Given the description of an element on the screen output the (x, y) to click on. 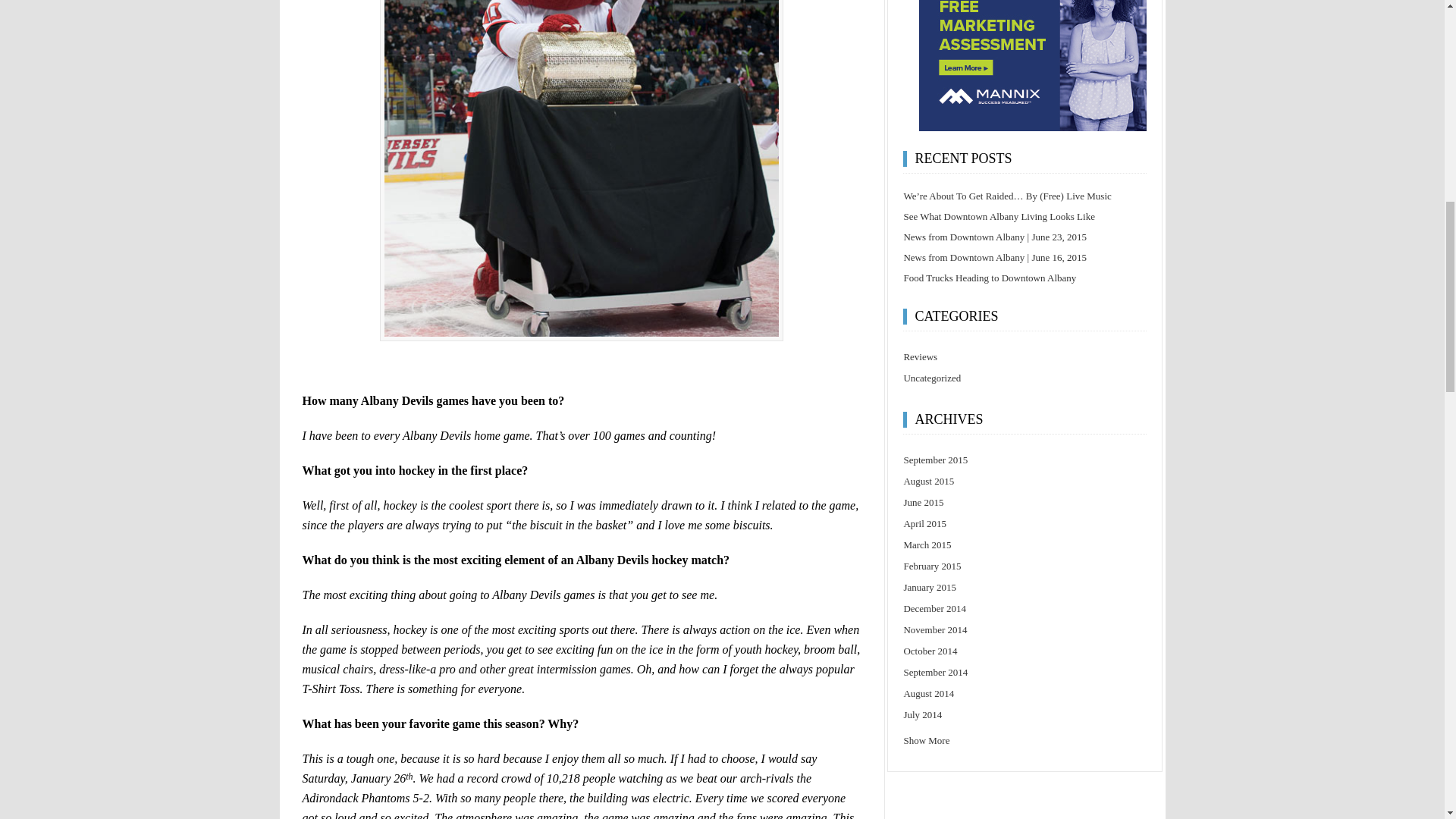
Mannix Marketing Display Ad (1032, 65)
